Given the description of an element on the screen output the (x, y) to click on. 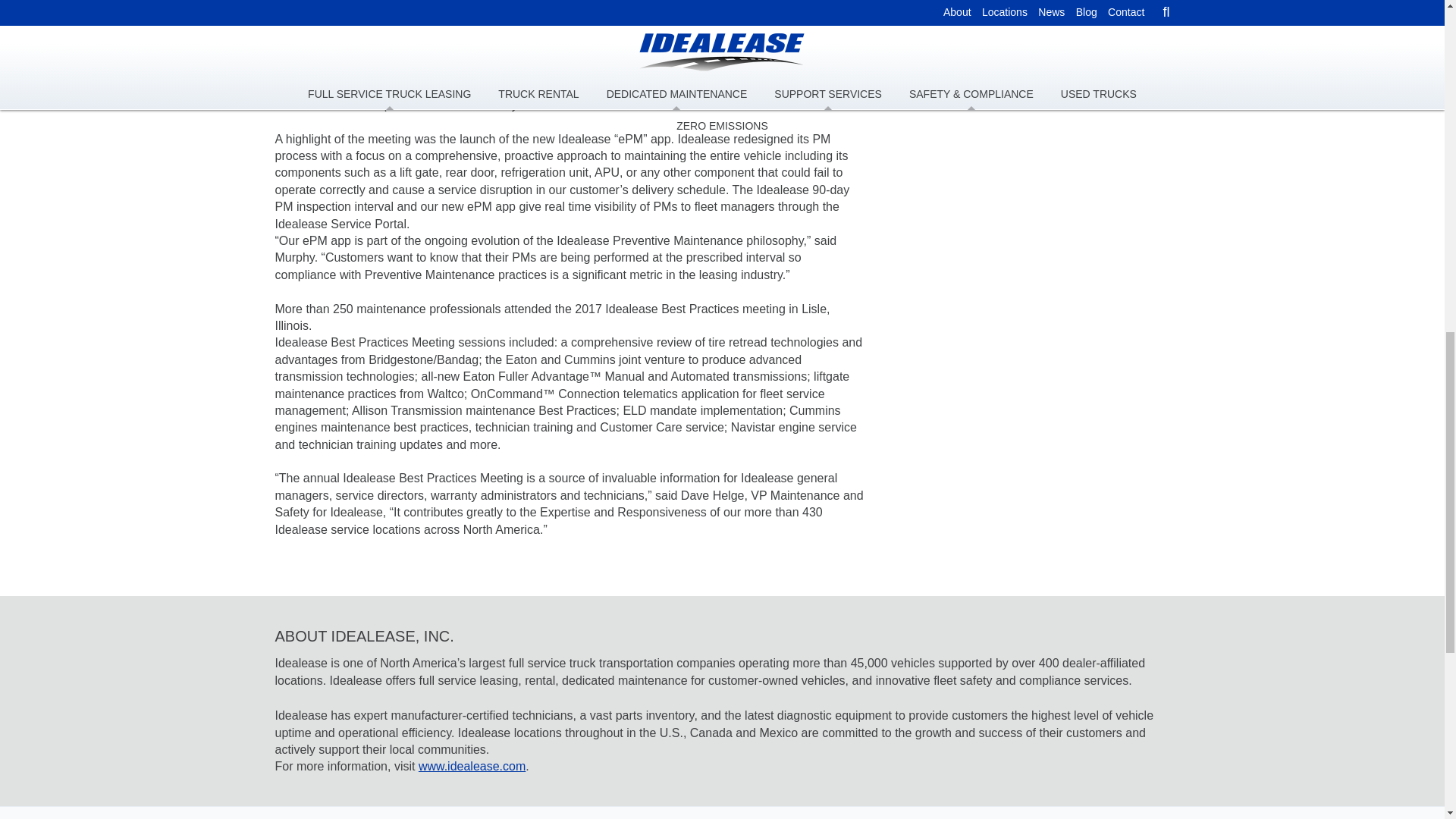
Idealease, Inc (472, 766)
